Given the description of an element on the screen output the (x, y) to click on. 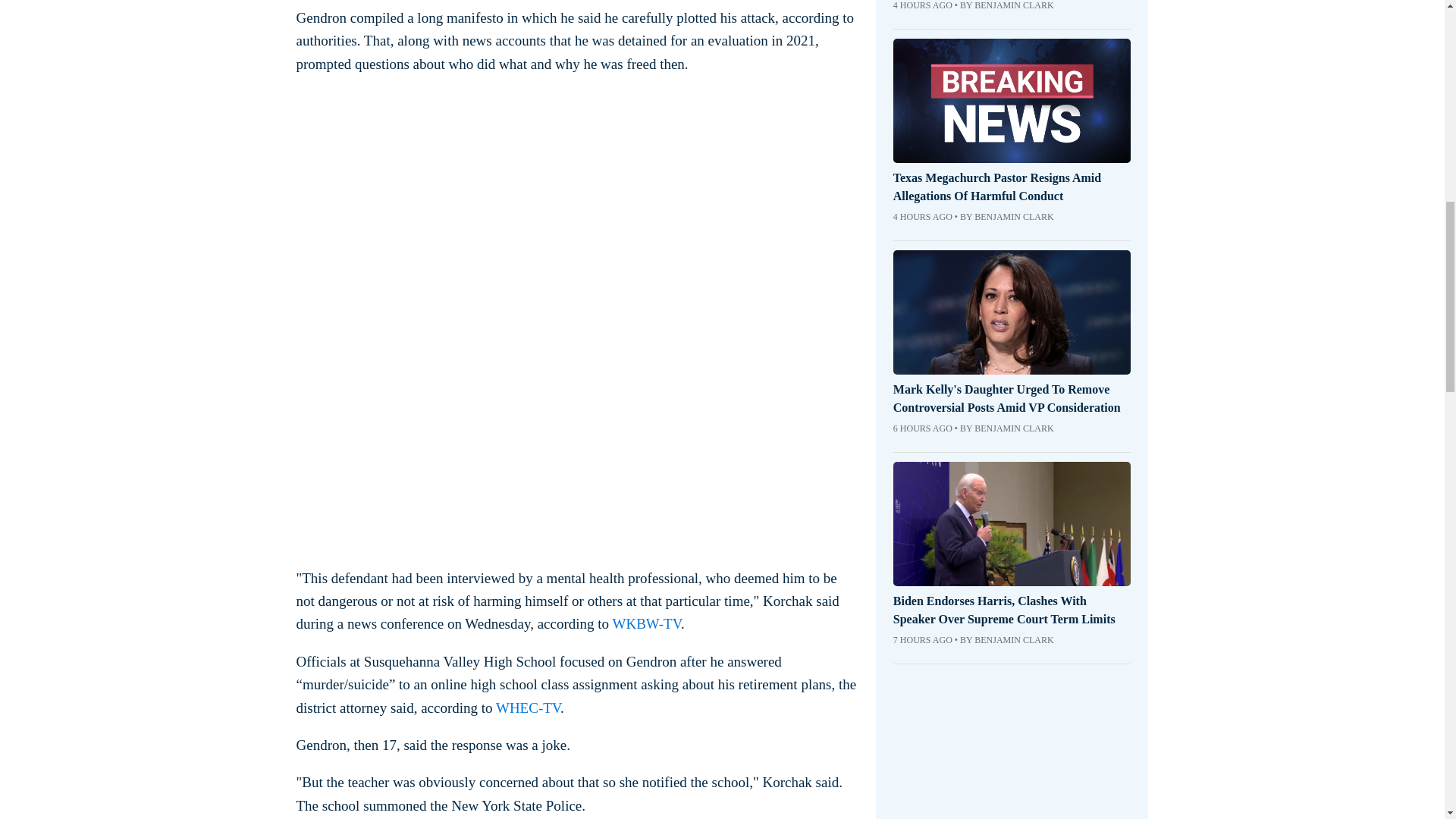
WHEC-TV (528, 707)
WKBW-TV (646, 623)
